Given the description of an element on the screen output the (x, y) to click on. 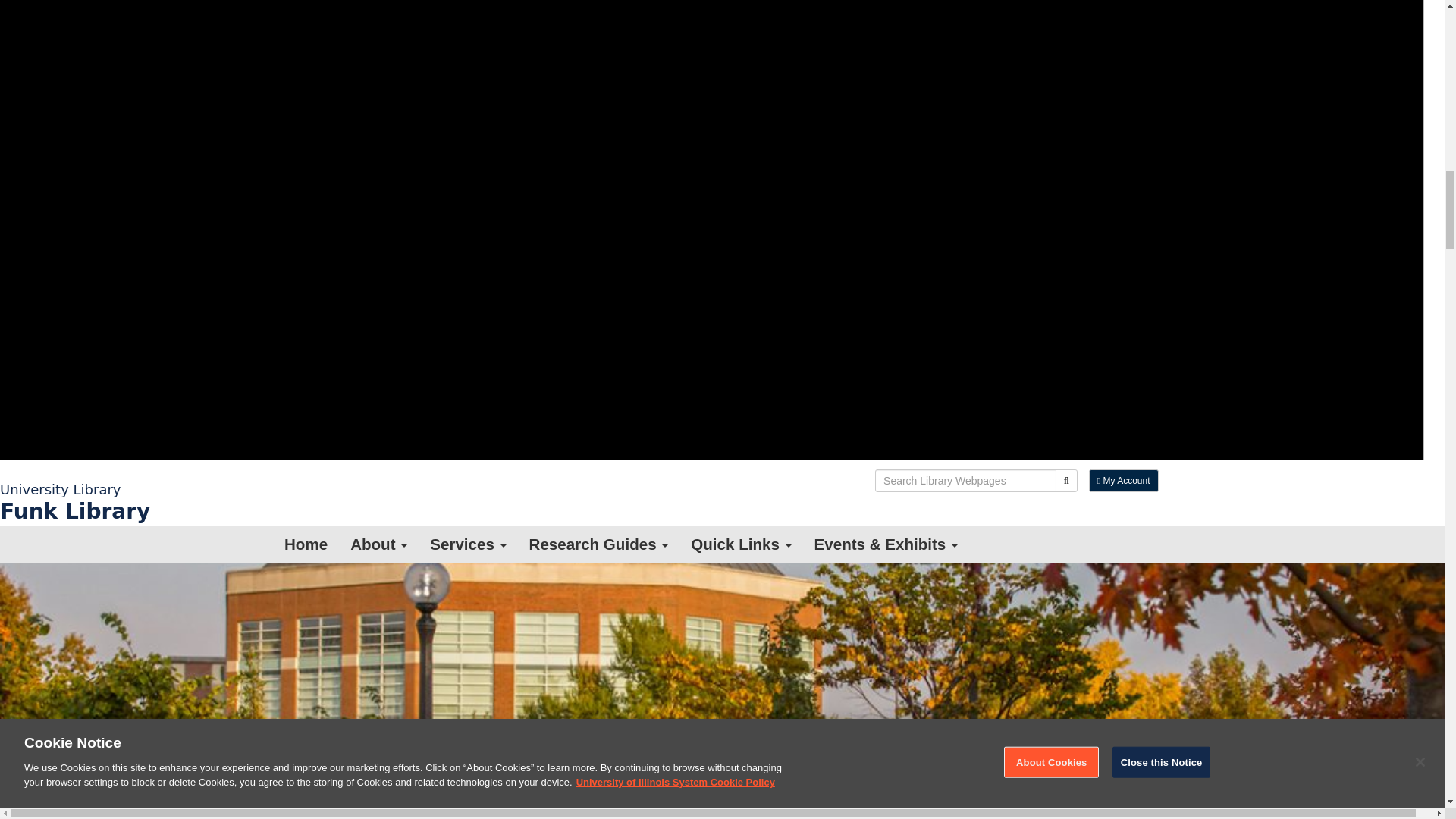
Search Library Webpages (966, 480)
